Given the description of an element on the screen output the (x, y) to click on. 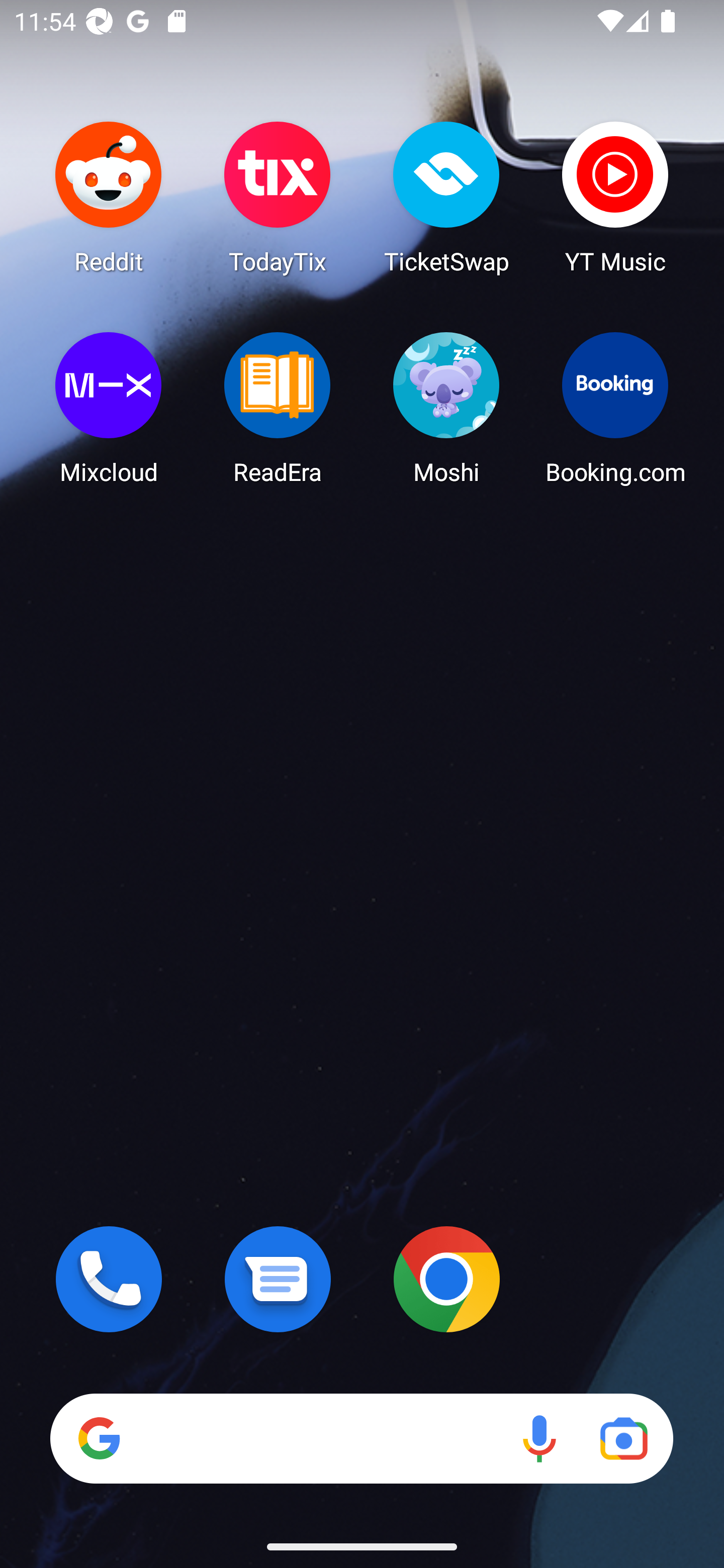
Reddit (108, 196)
TodayTix (277, 196)
TicketSwap (445, 196)
YT Music (615, 196)
Mixcloud (108, 407)
ReadEra (277, 407)
Moshi (445, 407)
Booking.com (615, 407)
Phone (108, 1279)
Messages (277, 1279)
Chrome (446, 1279)
Search Voice search Google Lens (361, 1438)
Voice search (539, 1438)
Google Lens (623, 1438)
